Given the description of an element on the screen output the (x, y) to click on. 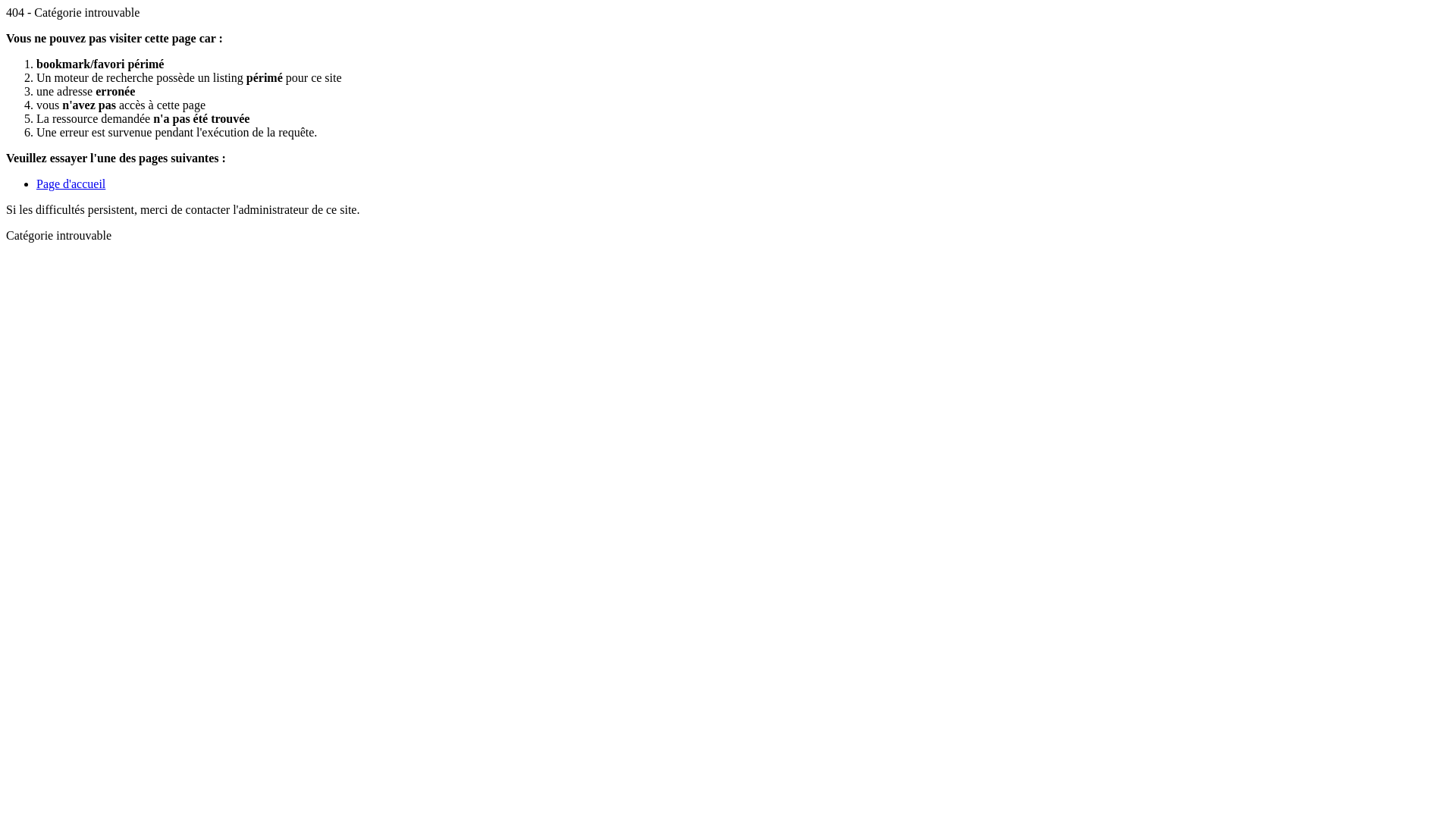
Page d'accueil Element type: text (70, 183)
